Given the description of an element on the screen output the (x, y) to click on. 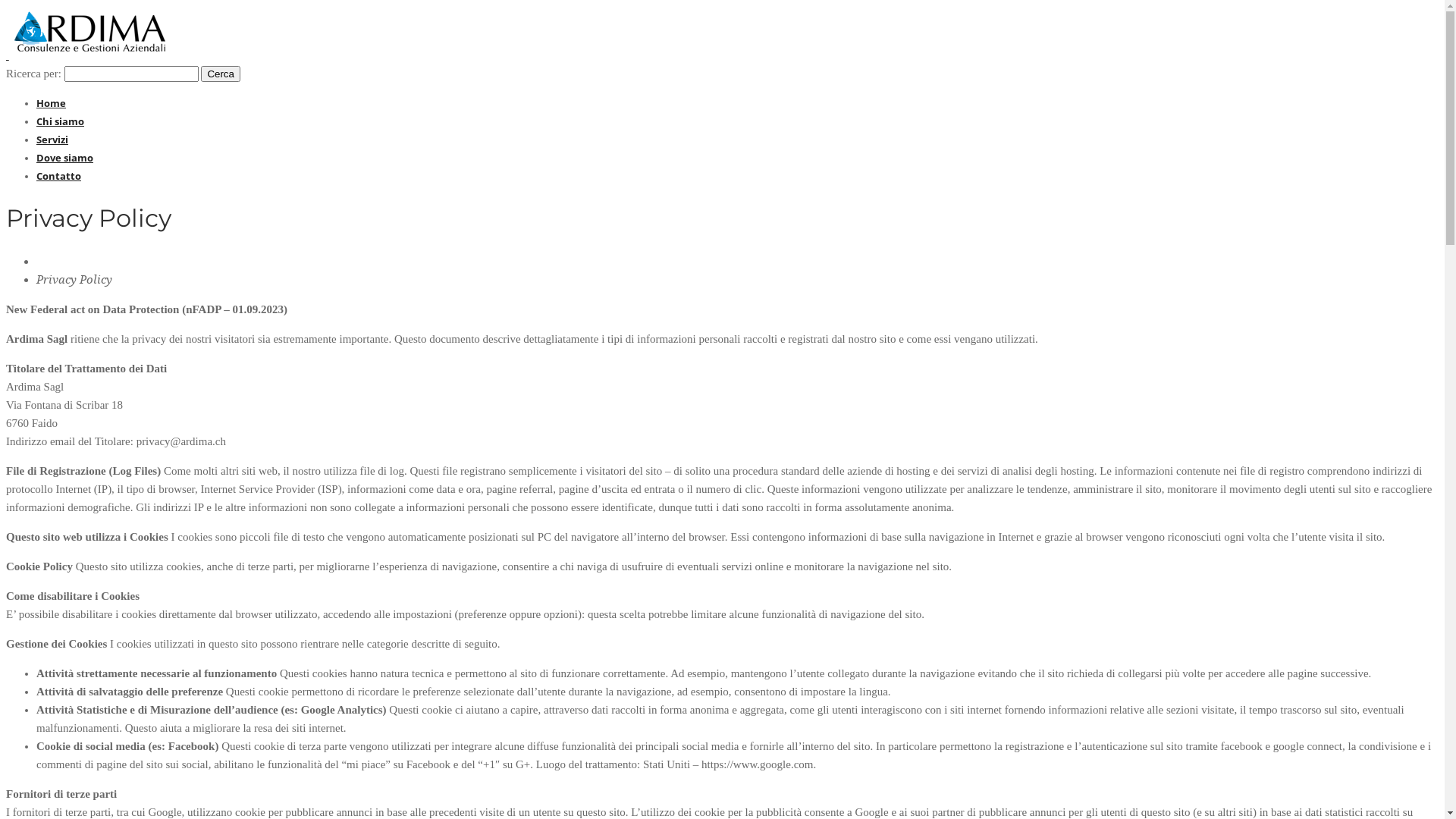
Home Element type: text (50, 102)
Servizi Element type: text (52, 139)
Cerca Element type: text (220, 73)
Contatto Element type: text (58, 175)
Dove siamo Element type: text (64, 157)
Chi siamo Element type: text (60, 121)
